Given the description of an element on the screen output the (x, y) to click on. 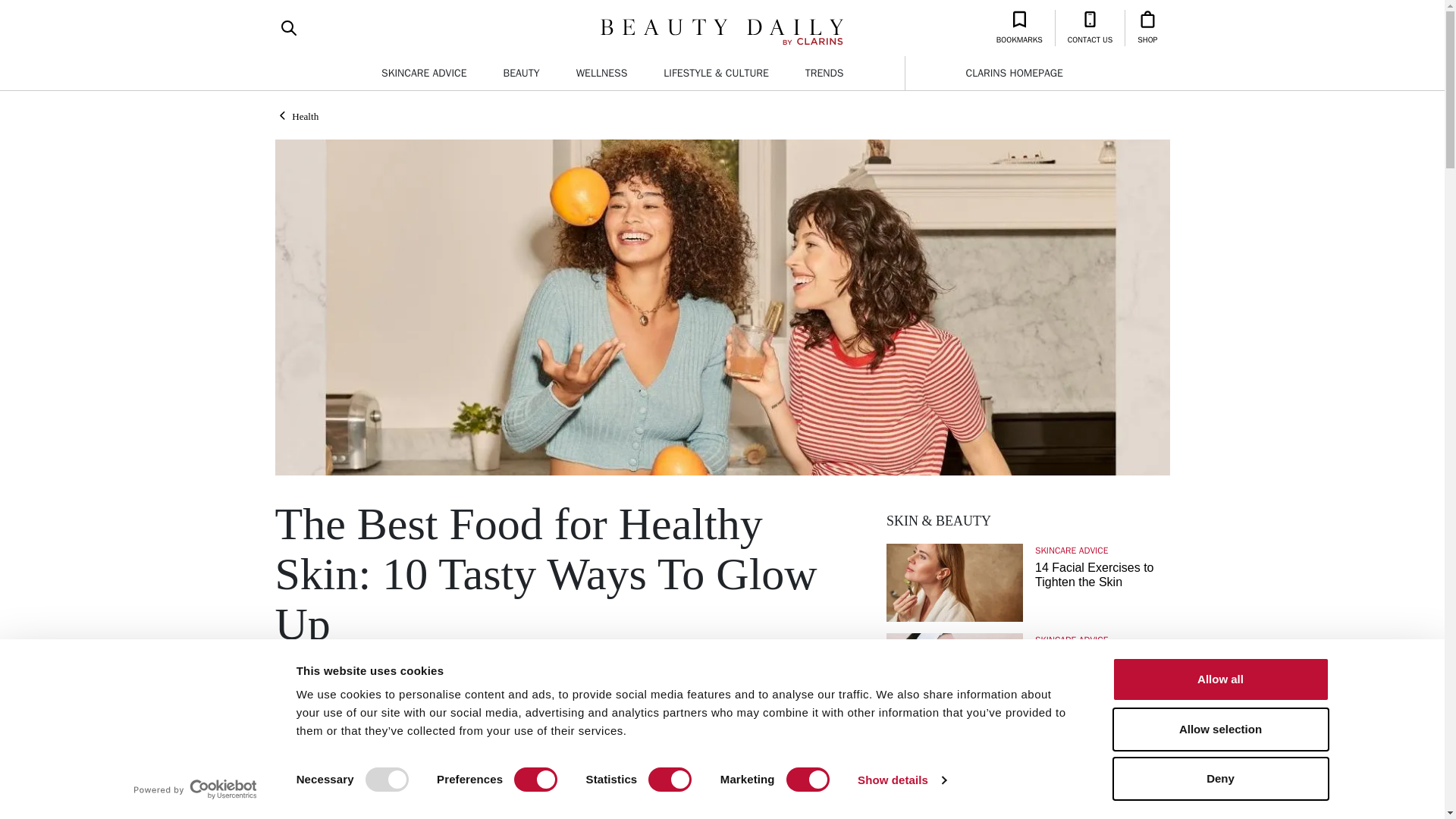
Add to your bookmarks (497, 722)
Deny (1219, 778)
Show details (900, 780)
BOOKMARKS (1018, 27)
CONTACT US (1090, 27)
Allow all (1219, 679)
Allow selection (1219, 728)
